Given the description of an element on the screen output the (x, y) to click on. 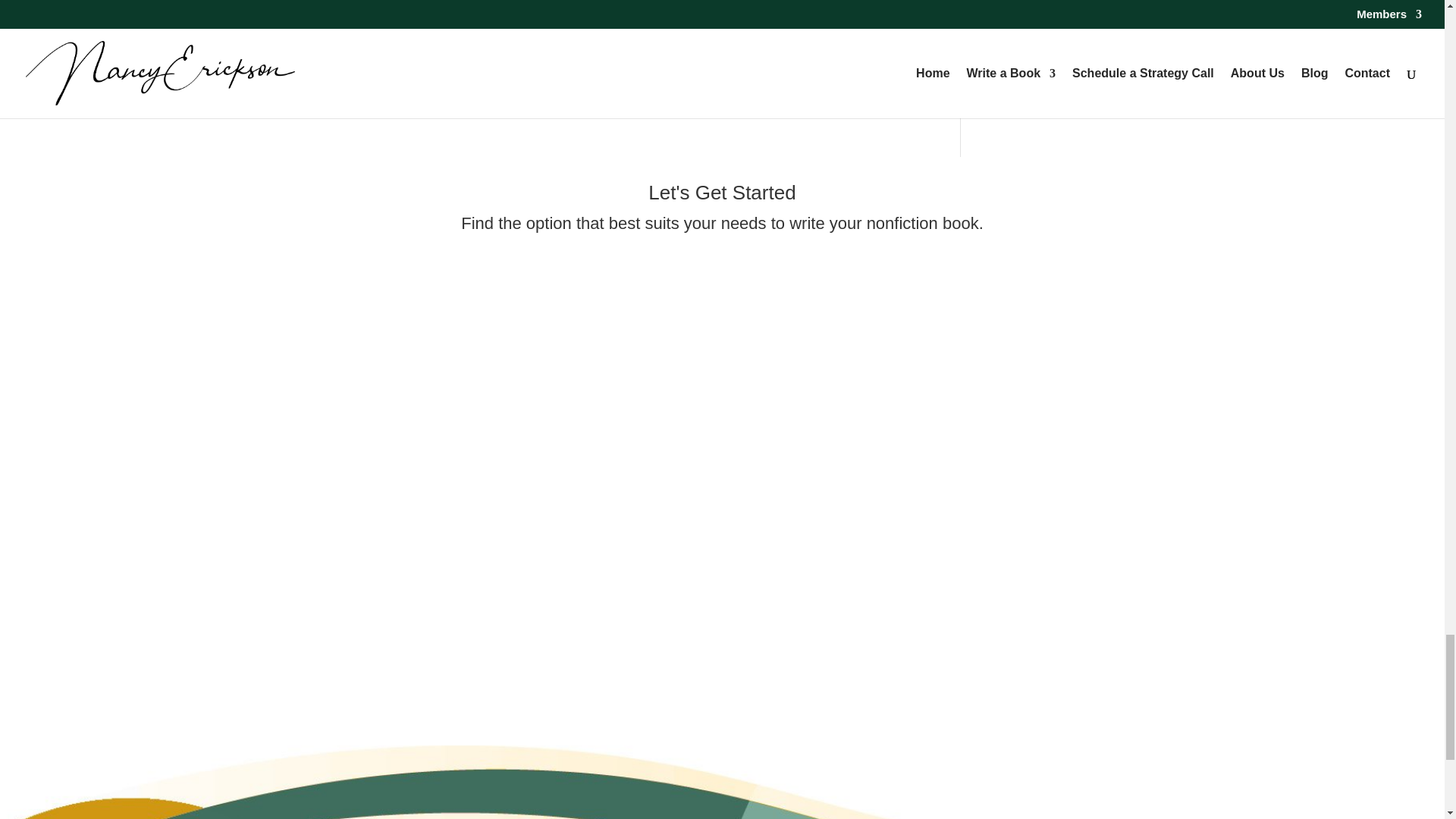
reserve your place (728, 42)
